Given the description of an element on the screen output the (x, y) to click on. 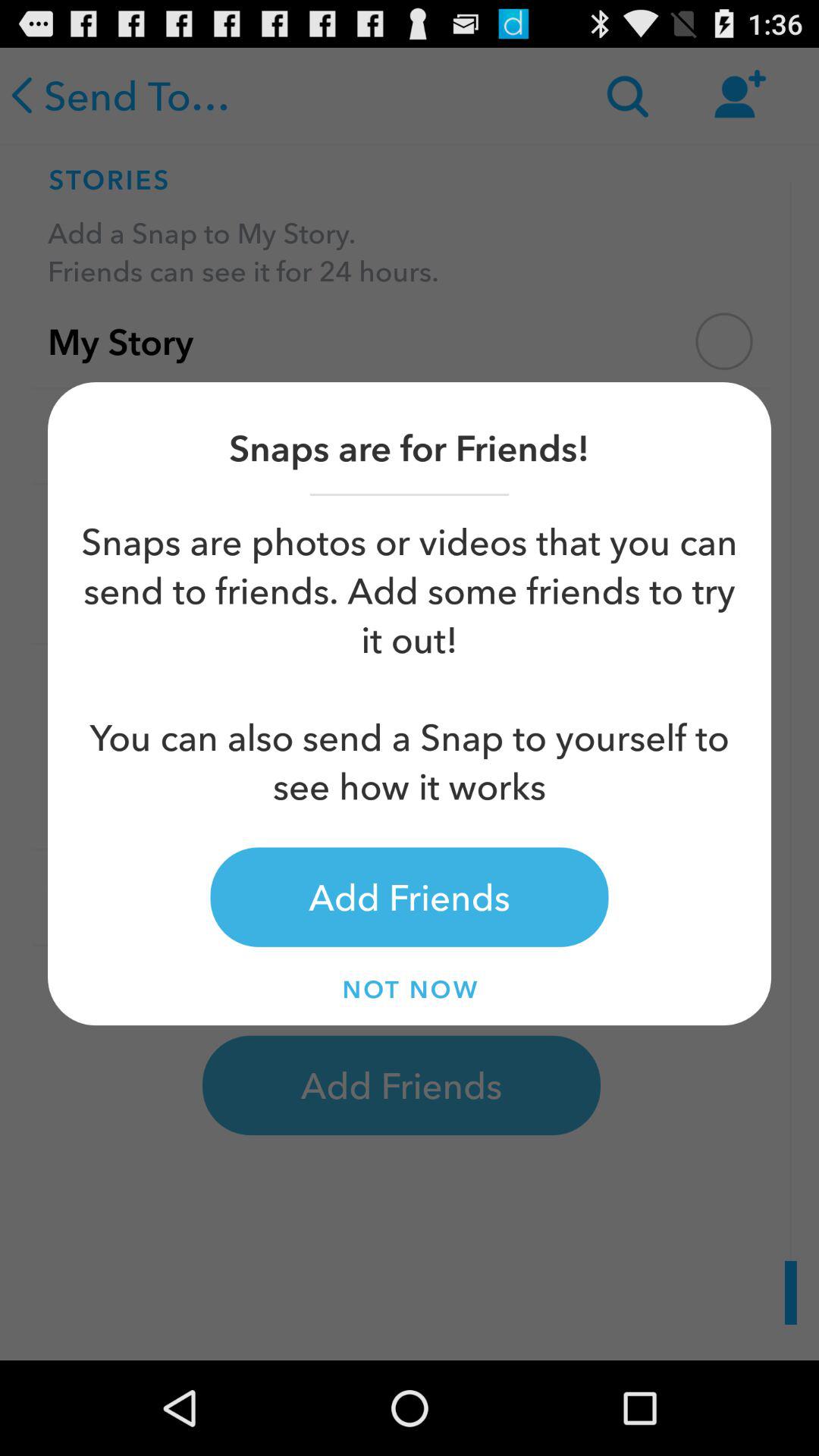
tap the icon at the bottom (409, 989)
